Given the description of an element on the screen output the (x, y) to click on. 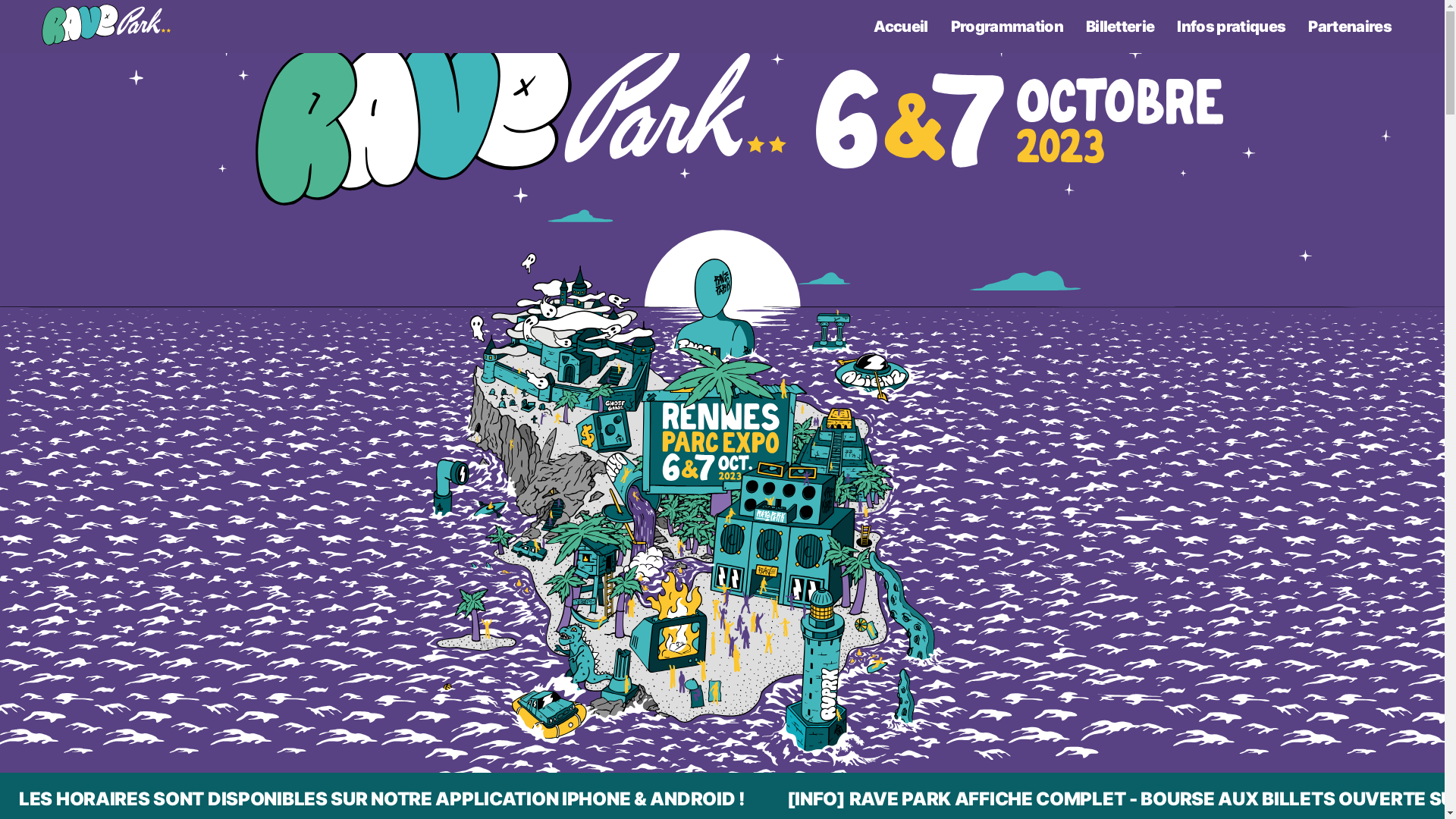
Programmation Element type: text (1006, 26)
Infos pratiques Element type: text (1230, 26)
Billetterie Element type: text (1120, 26)
Partenaires Element type: text (1349, 26)
Accueil Element type: text (900, 26)
